Given the description of an element on the screen output the (x, y) to click on. 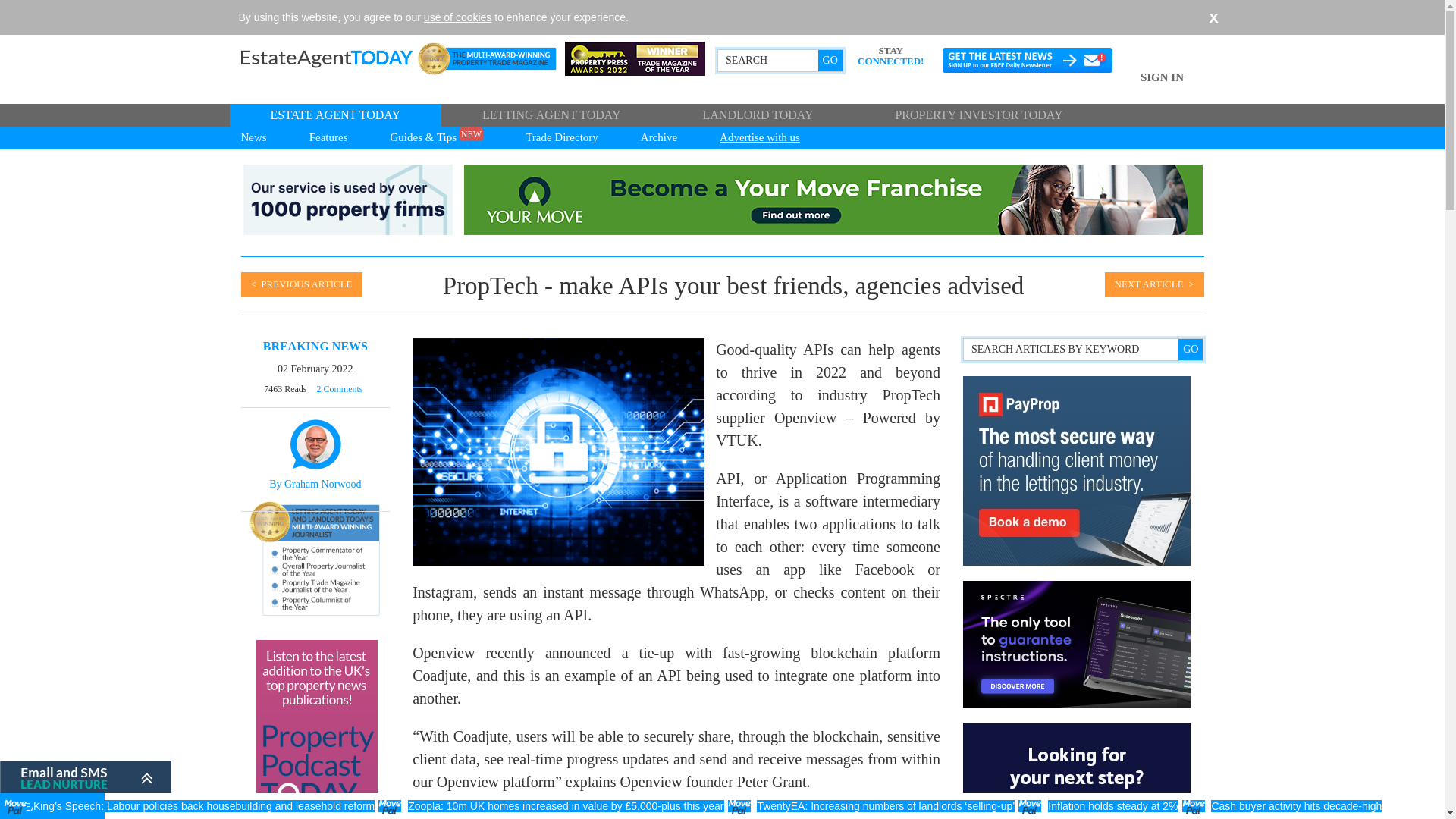
LANDLORD TODAY (757, 115)
News (252, 137)
Features (328, 137)
PROPERTY INVESTOR TODAY (978, 115)
LETTING AGENT TODAY (551, 115)
ESTATE AGENT TODAY (334, 115)
GO (830, 60)
GO (1189, 349)
Trade Directory (561, 137)
GO (830, 60)
Estate Agent Today (348, 58)
Property Podcast Today (316, 729)
use of cookies (457, 17)
Advertise with us (759, 137)
Archive (658, 137)
